Given the description of an element on the screen output the (x, y) to click on. 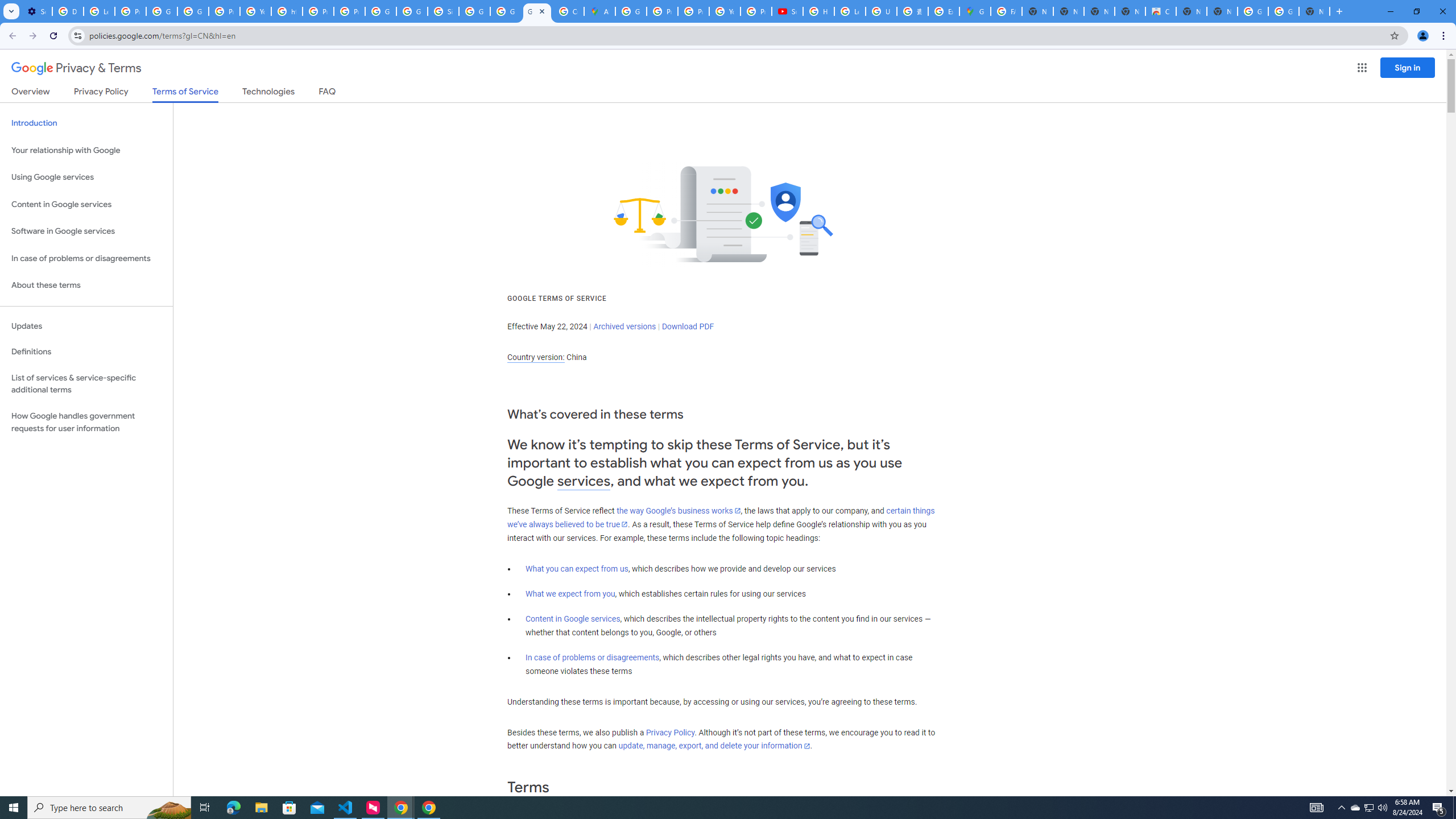
Settings - On startup (36, 11)
How Chrome protects your passwords - Google Chrome Help (818, 11)
Sign in - Google Accounts (443, 11)
